Given the description of an element on the screen output the (x, y) to click on. 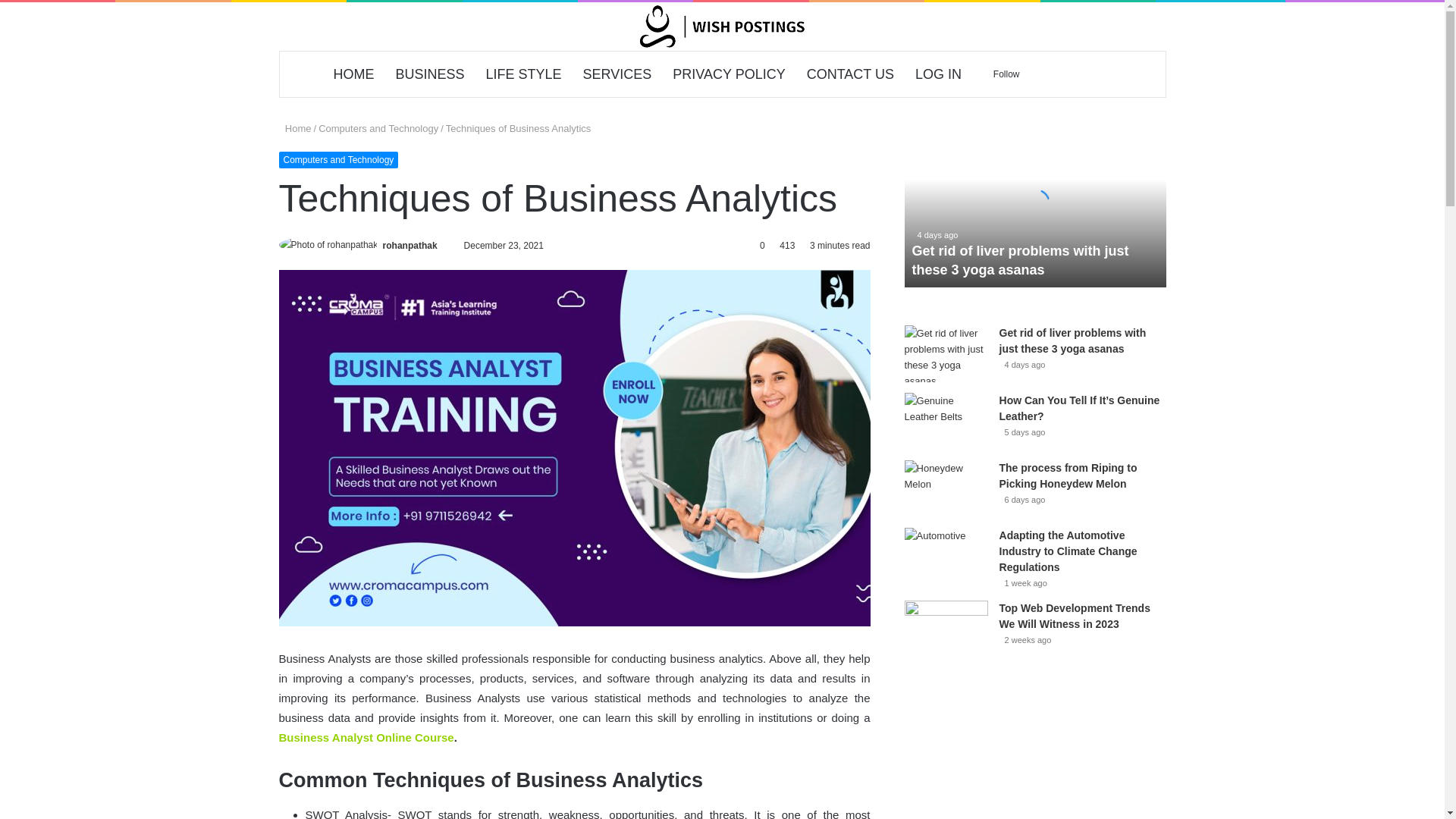
LIFE STYLE (524, 74)
Get rid of liver problems with just these 3 yoga asanas (1020, 260)
PRIVACY POLICY (728, 74)
CONTACT US (850, 74)
LOG IN (938, 74)
Business Analyst Online Course (366, 737)
SERVICES (617, 74)
BUSINESS (430, 74)
Computers and Technology (338, 159)
Follow (1001, 74)
HOME (354, 74)
Home (295, 128)
Get rid of liver problems with just these 3 yoga asanas (1035, 203)
Wish Postings (721, 27)
rohanpathak (410, 245)
